Given the description of an element on the screen output the (x, y) to click on. 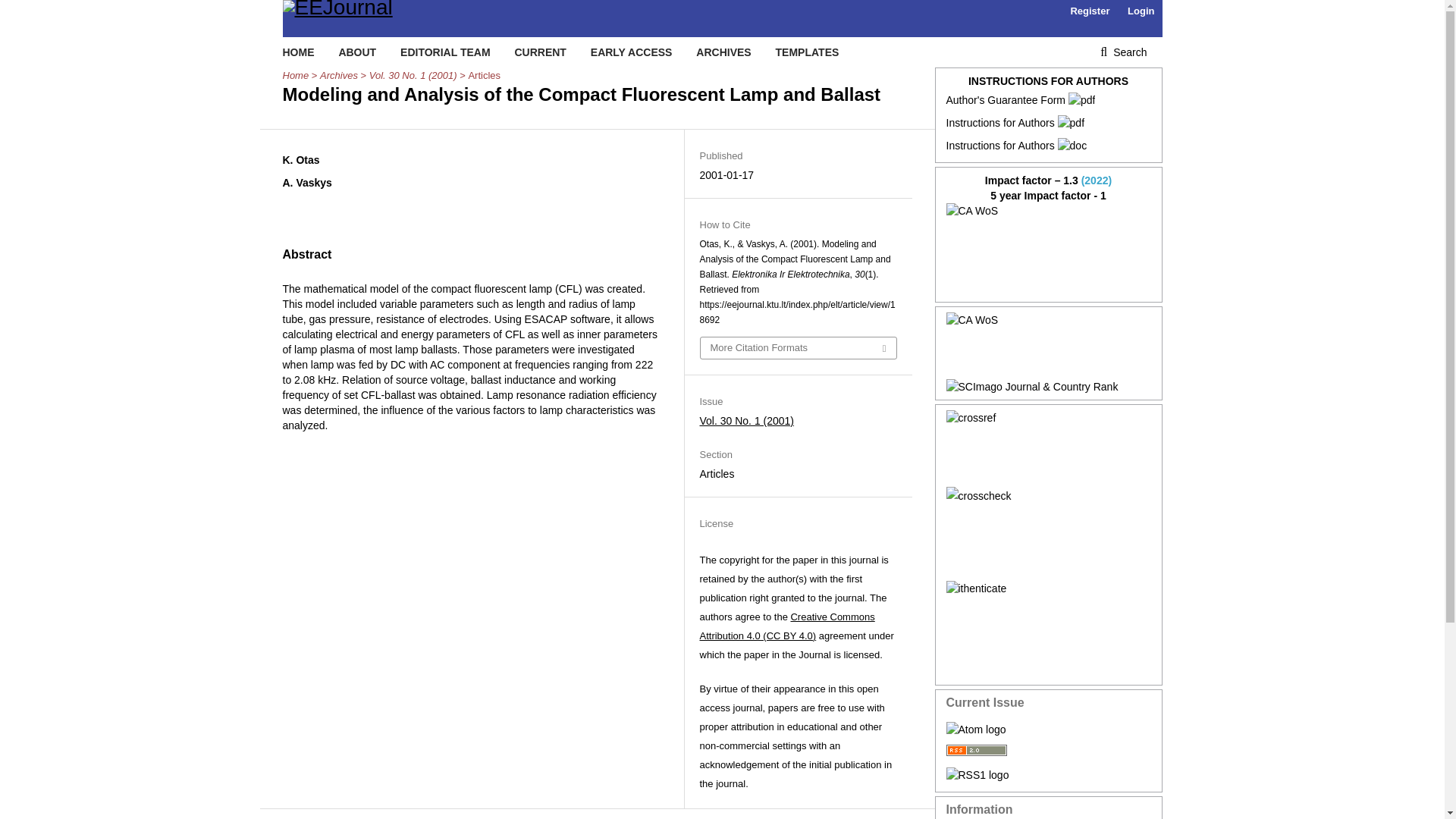
Home (295, 75)
Journal: Elektronika Ir Elektrotechnika (1048, 346)
ABOUT (356, 51)
HOME (298, 51)
EDITORIAL TEAM (445, 51)
Journal: Elektronika Ir Elektrotechnika (1048, 249)
CURRENT (539, 51)
ARCHIVES (723, 51)
Archives (339, 75)
TEMPLATES (808, 51)
